Given the description of an element on the screen output the (x, y) to click on. 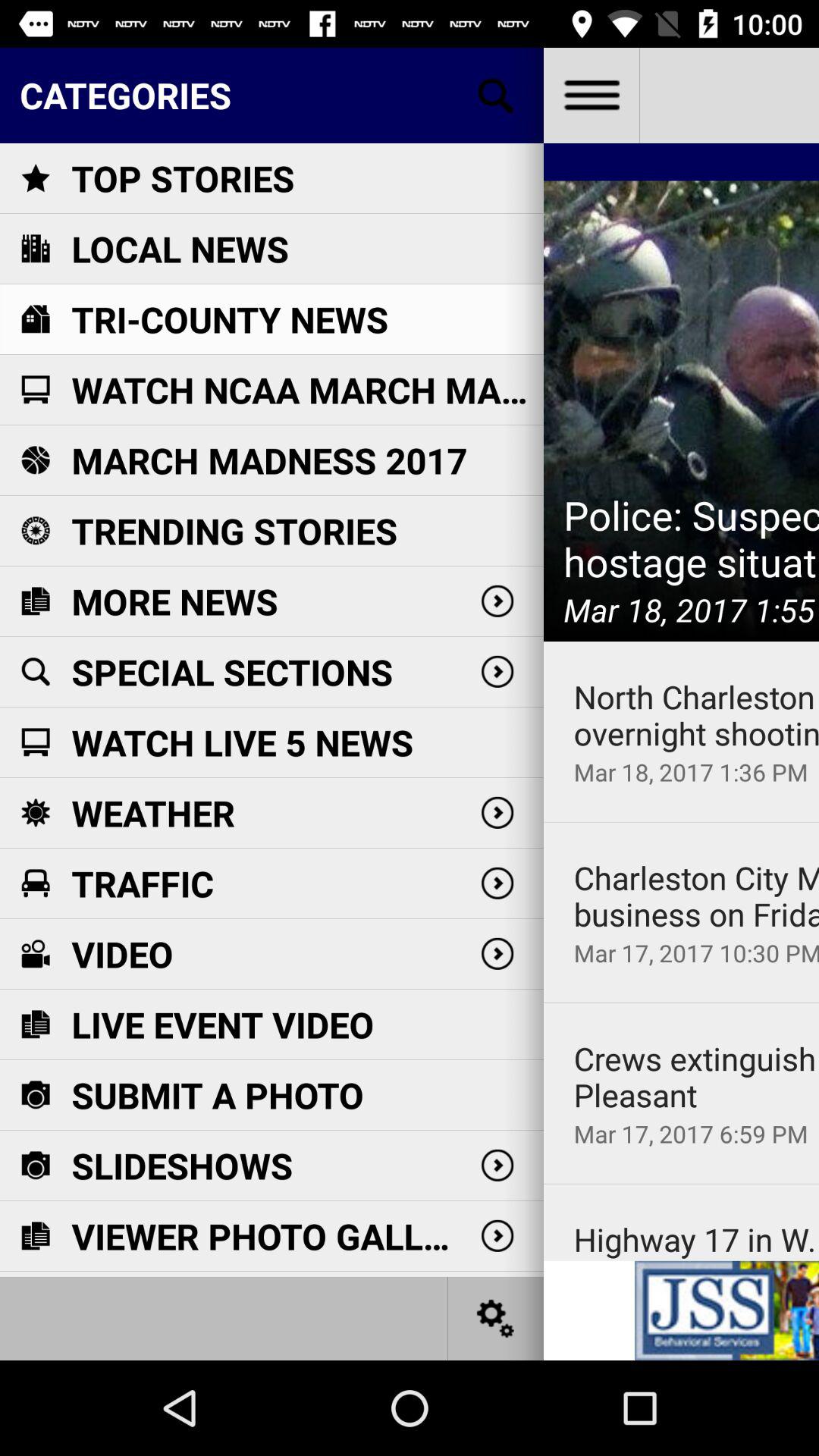
tap more option (591, 95)
